Given the description of an element on the screen output the (x, y) to click on. 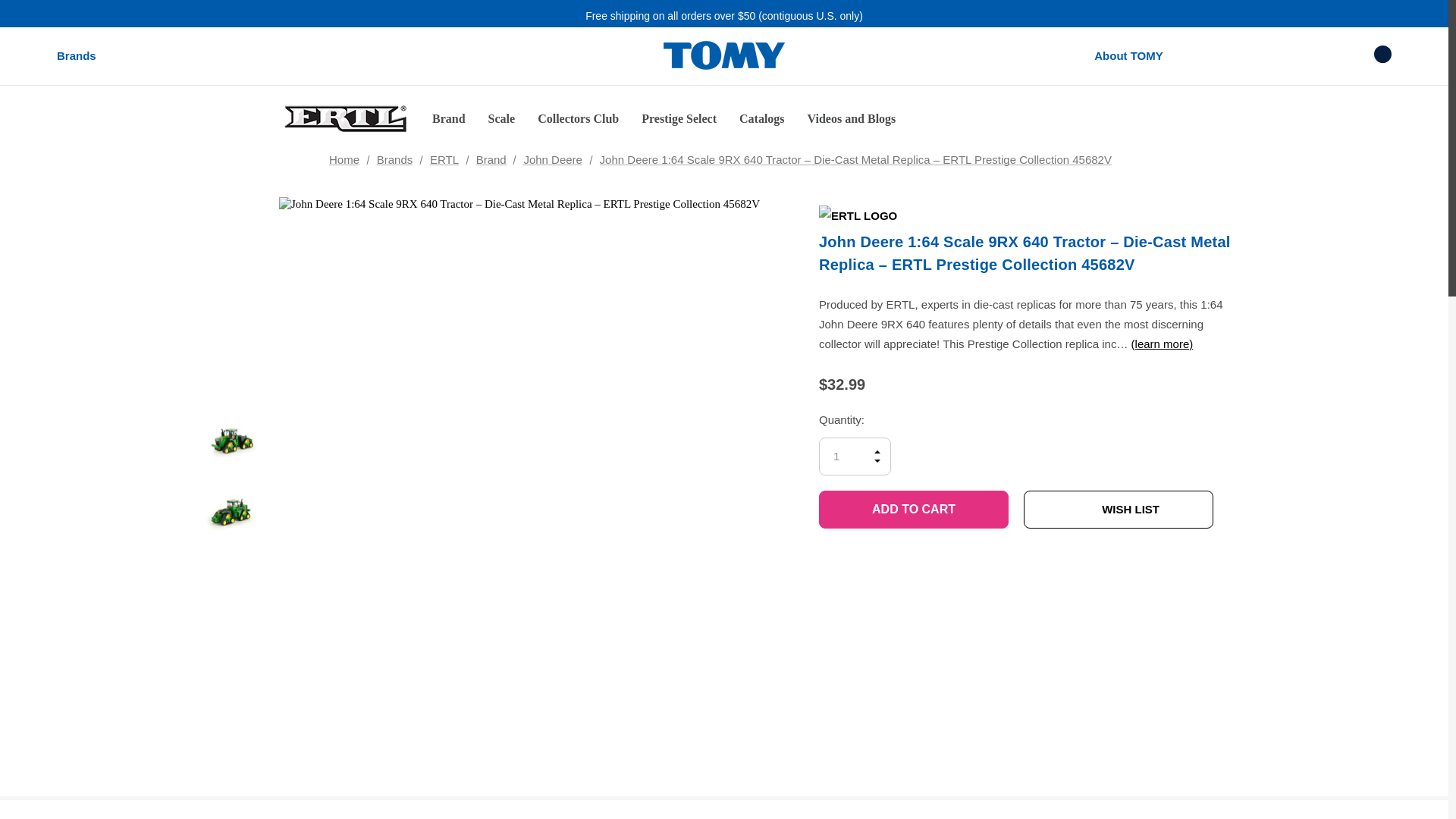
TOMY (723, 55)
1 (854, 456)
Wish Lists Wish Lists (1325, 54)
Brands (76, 56)
Add to Cart (913, 509)
